Given the description of an element on the screen output the (x, y) to click on. 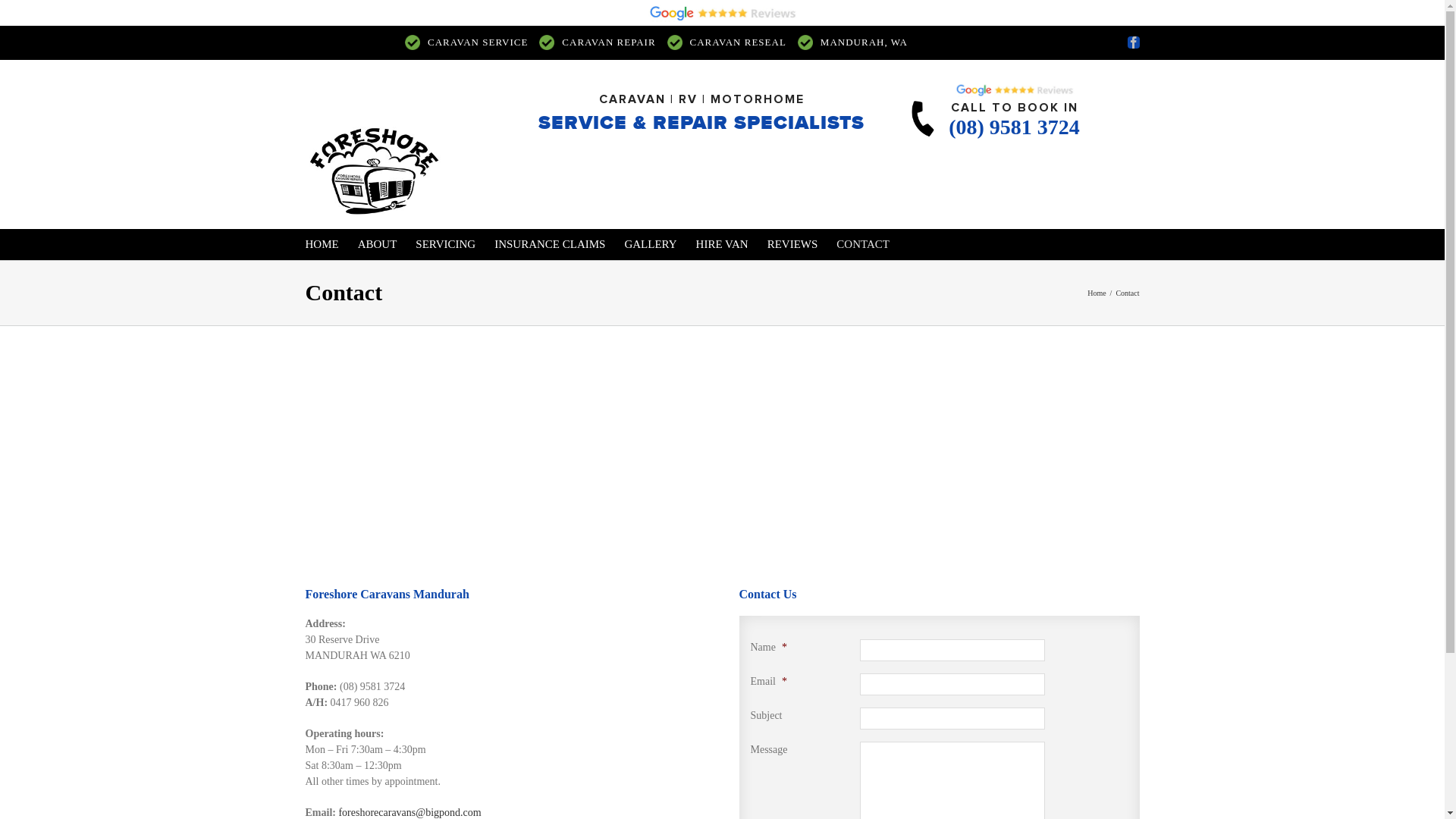
foreshorecaravans@bigpond.com Element type: text (409, 812)
REVIEWS Element type: text (792, 244)
Home Element type: text (1096, 292)
HIRE VAN Element type: text (722, 244)
CARAVAN SERVICE Element type: text (477, 41)
CONTACT Element type: text (862, 244)
GALLERY Element type: text (650, 244)
ABOUT Element type: text (377, 244)
INSURANCE CLAIMS Element type: text (549, 244)
Facebook Element type: text (1132, 42)
(08) 9581 3724 Element type: text (1013, 127)
CARAVAN REPAIR Element type: text (608, 41)
Google Reviews Element type: hover (1014, 89)
HOME Element type: text (321, 244)
Google Reviews Element type: hover (721, 12)
SERVICING Element type: text (445, 244)
CARAVAN RESEAL Element type: text (738, 41)
